Given the description of an element on the screen output the (x, y) to click on. 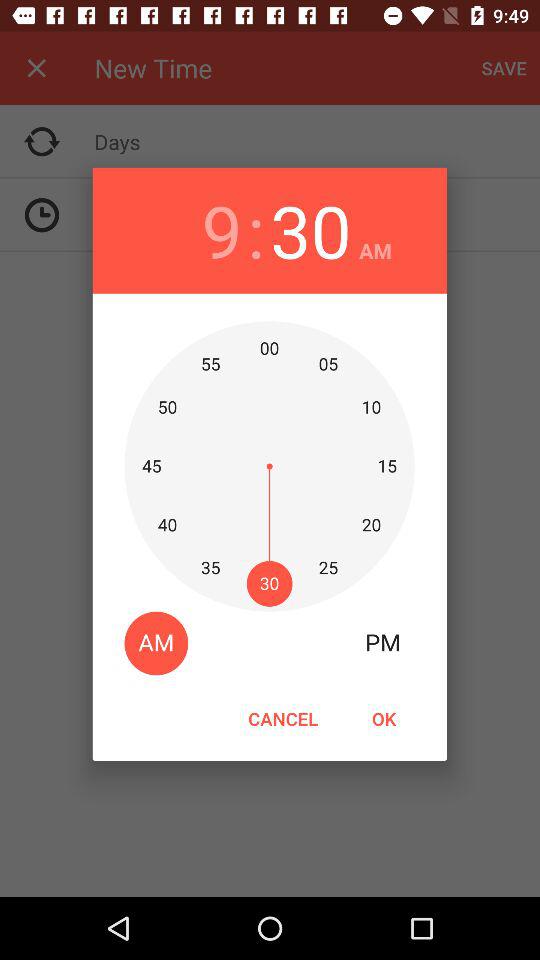
click the item to the right of the cancel (383, 718)
